Given the description of an element on the screen output the (x, y) to click on. 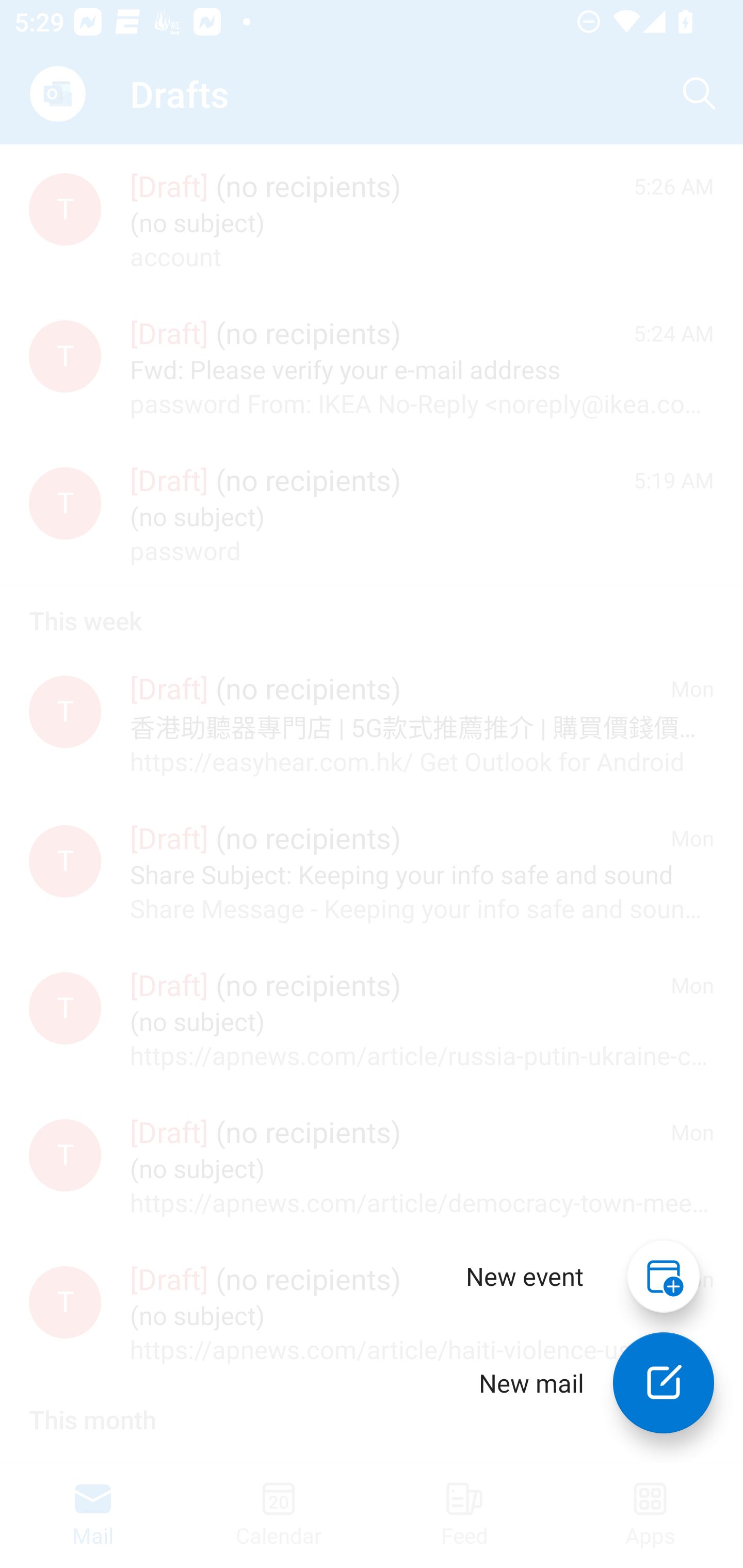
New event (524, 1275)
New mail New mail New mail (582, 1382)
New mail (663, 1382)
